Given the description of an element on the screen output the (x, y) to click on. 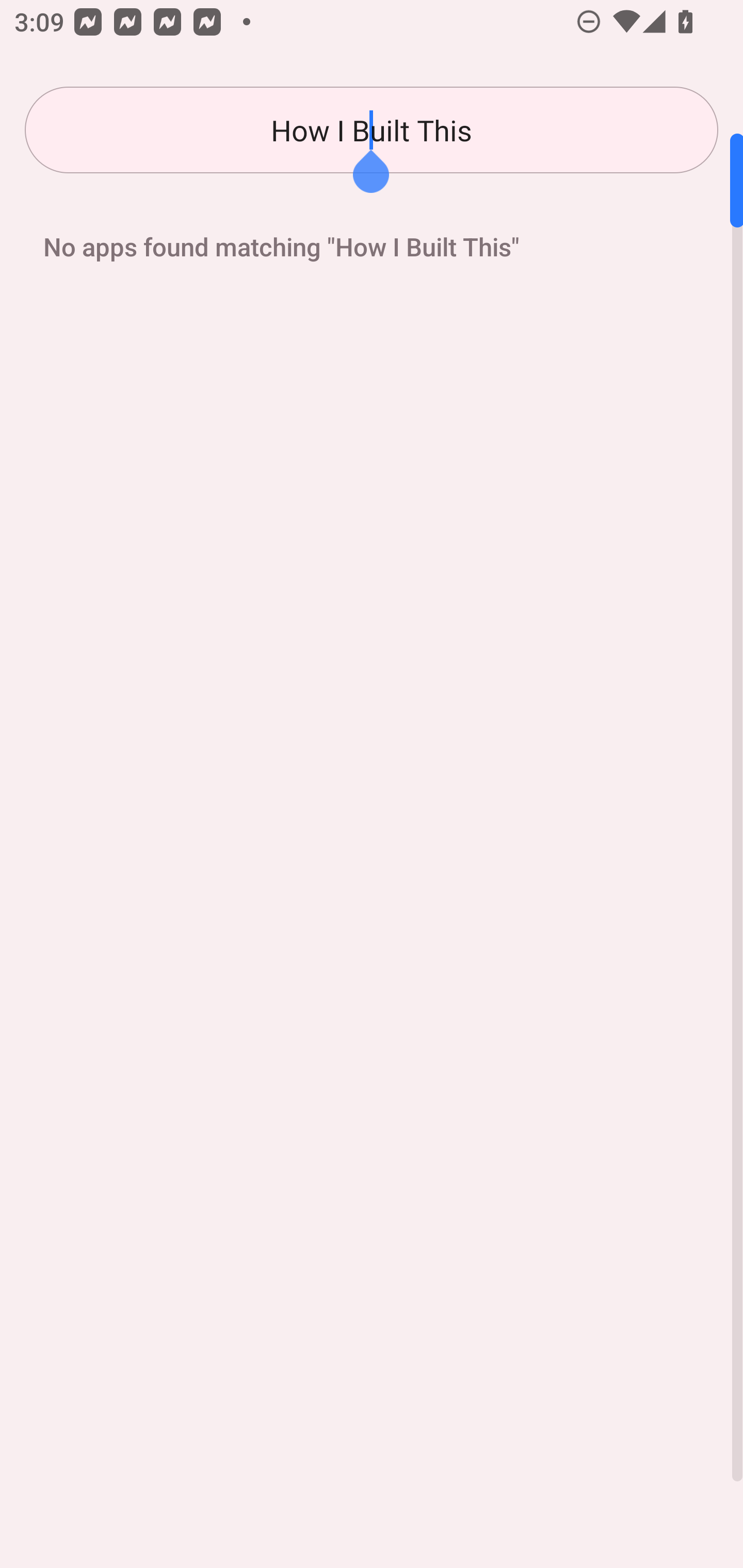
How I Built This (371, 130)
